Given the description of an element on the screen output the (x, y) to click on. 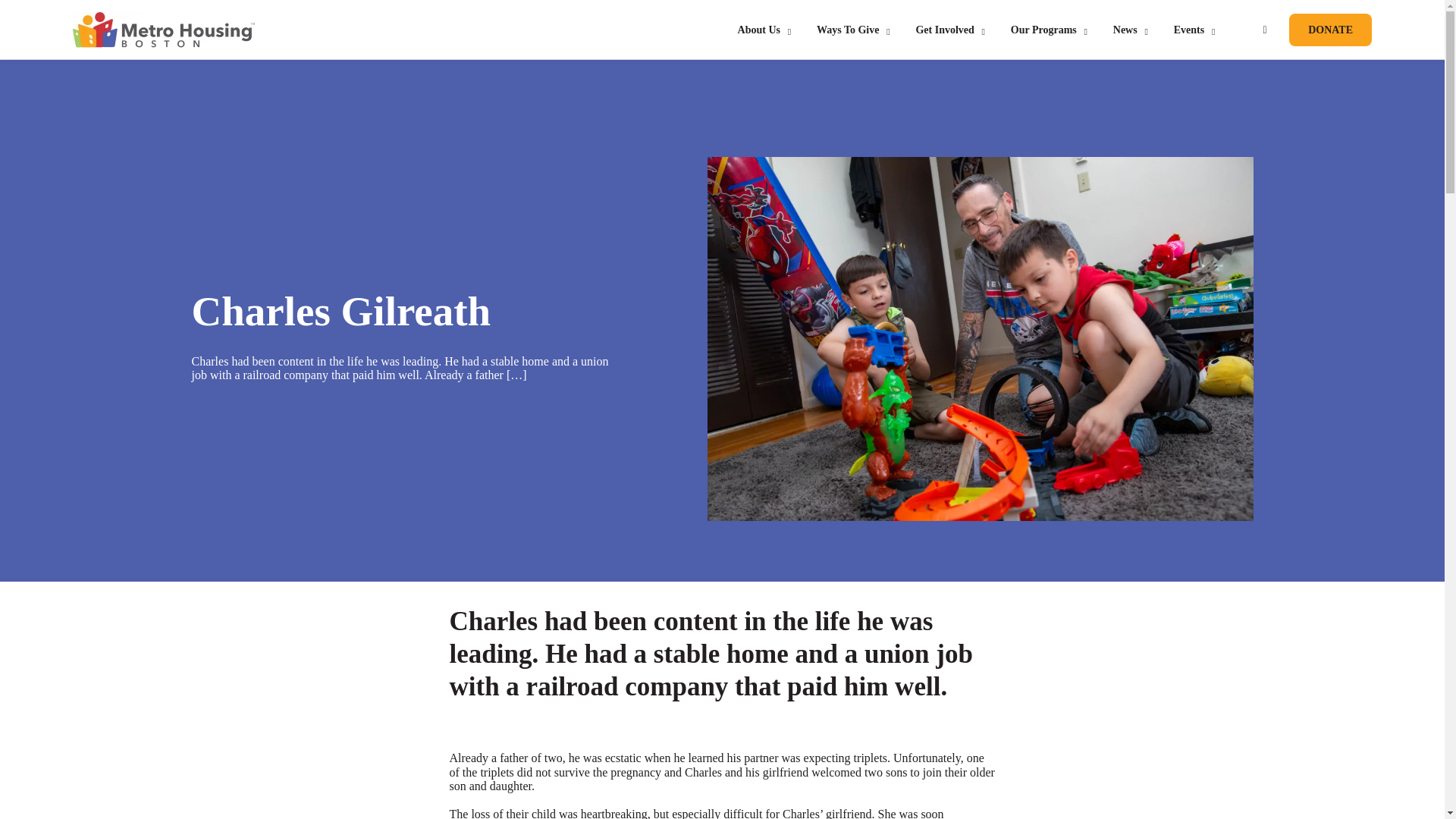
DONATE (1329, 29)
Ways To Give (847, 29)
About Us (759, 29)
Get Involved (944, 29)
Our Programs (1043, 29)
